Given the description of an element on the screen output the (x, y) to click on. 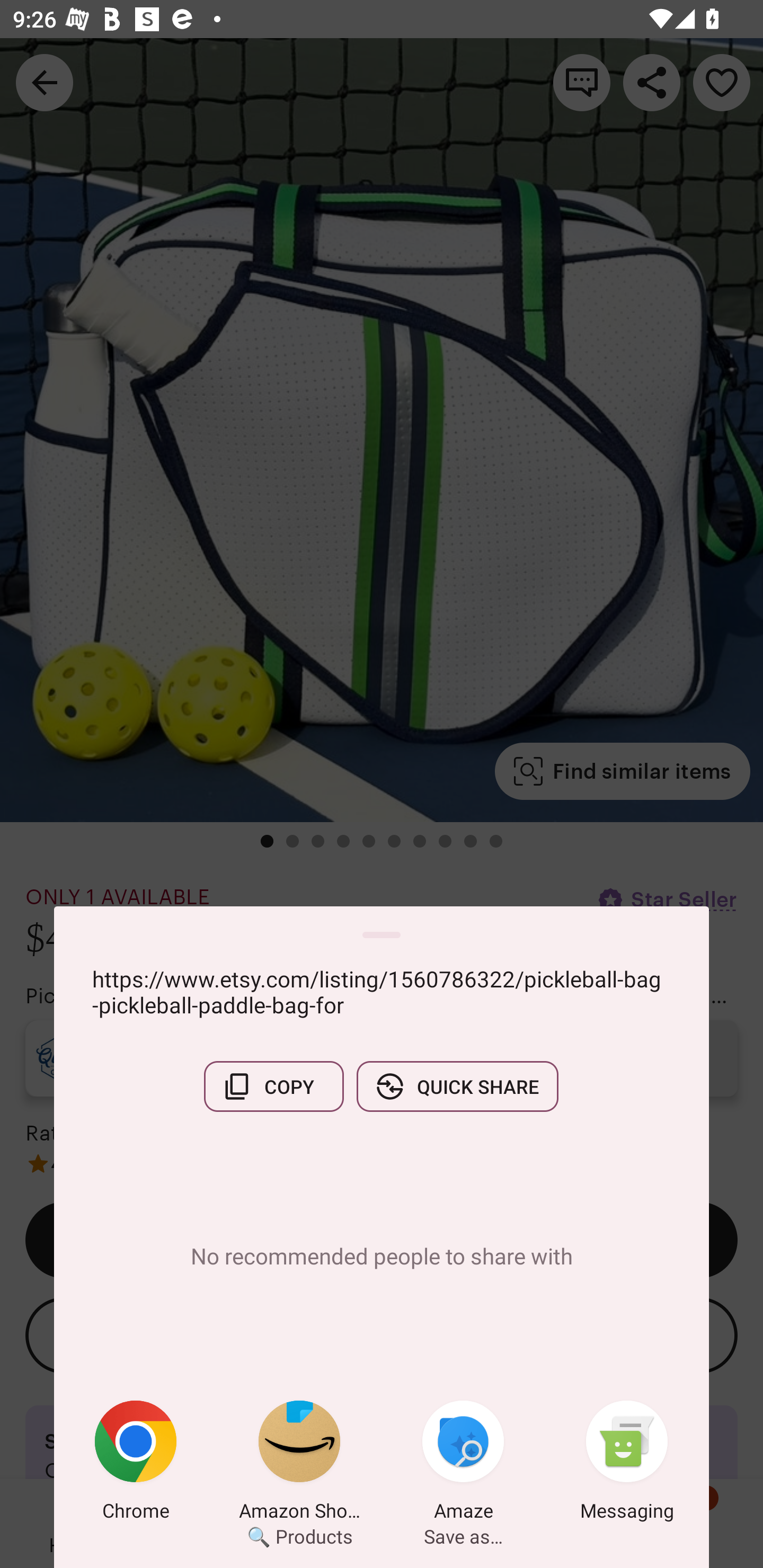
COPY (273, 1086)
QUICK SHARE (457, 1086)
Chrome (135, 1463)
Amazon Shopping 🔍 Products (299, 1463)
Amaze Save as… (463, 1463)
Messaging (626, 1463)
